Given the description of an element on the screen output the (x, y) to click on. 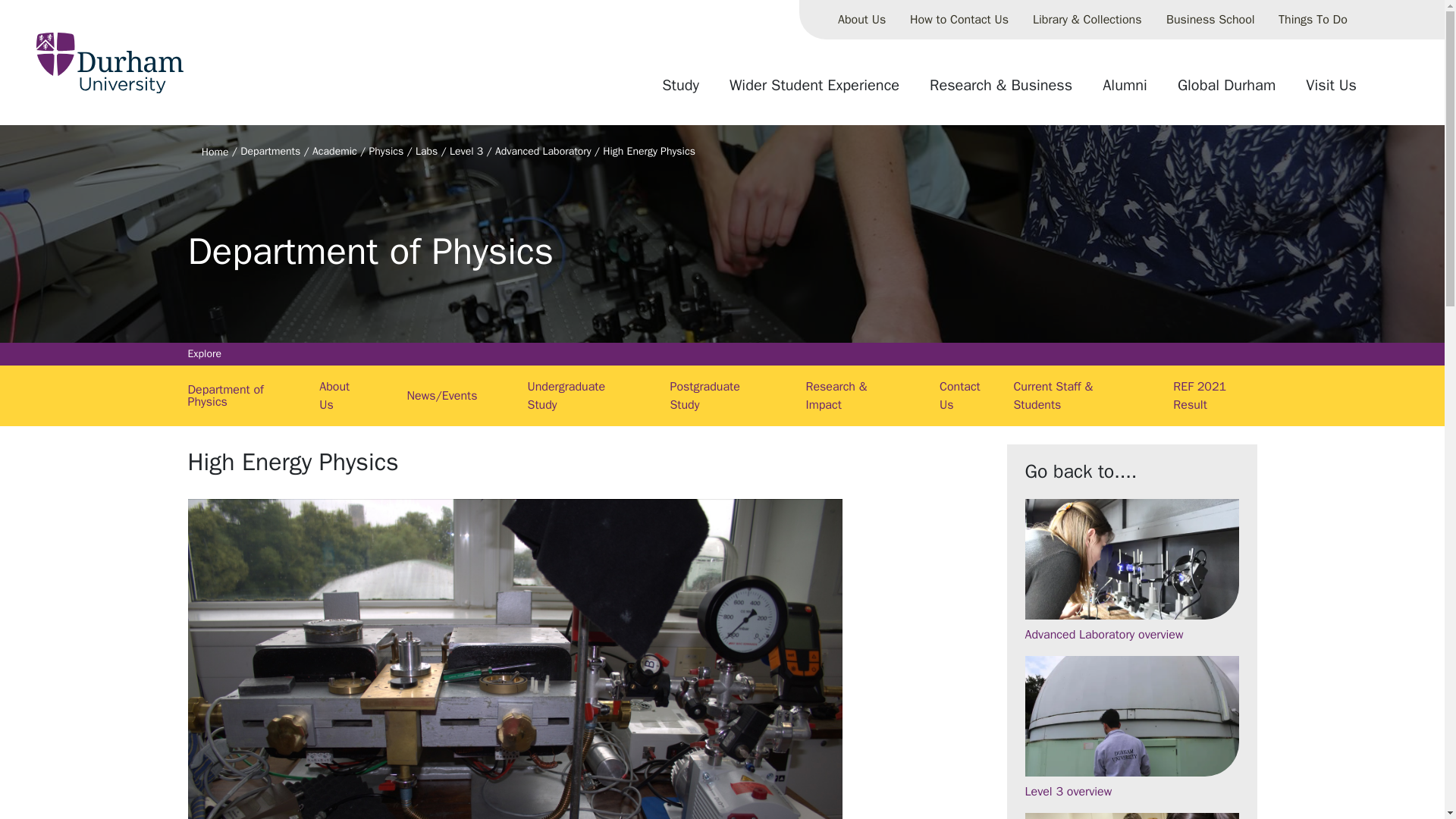
Alumni (1124, 91)
Study (680, 91)
How to Contact Us (959, 19)
Business School (1210, 19)
Things To Do (1312, 19)
Wider Student Experience (814, 91)
Global Durham (1226, 91)
About Us (861, 19)
Visit Us (1331, 91)
